Given the description of an element on the screen output the (x, y) to click on. 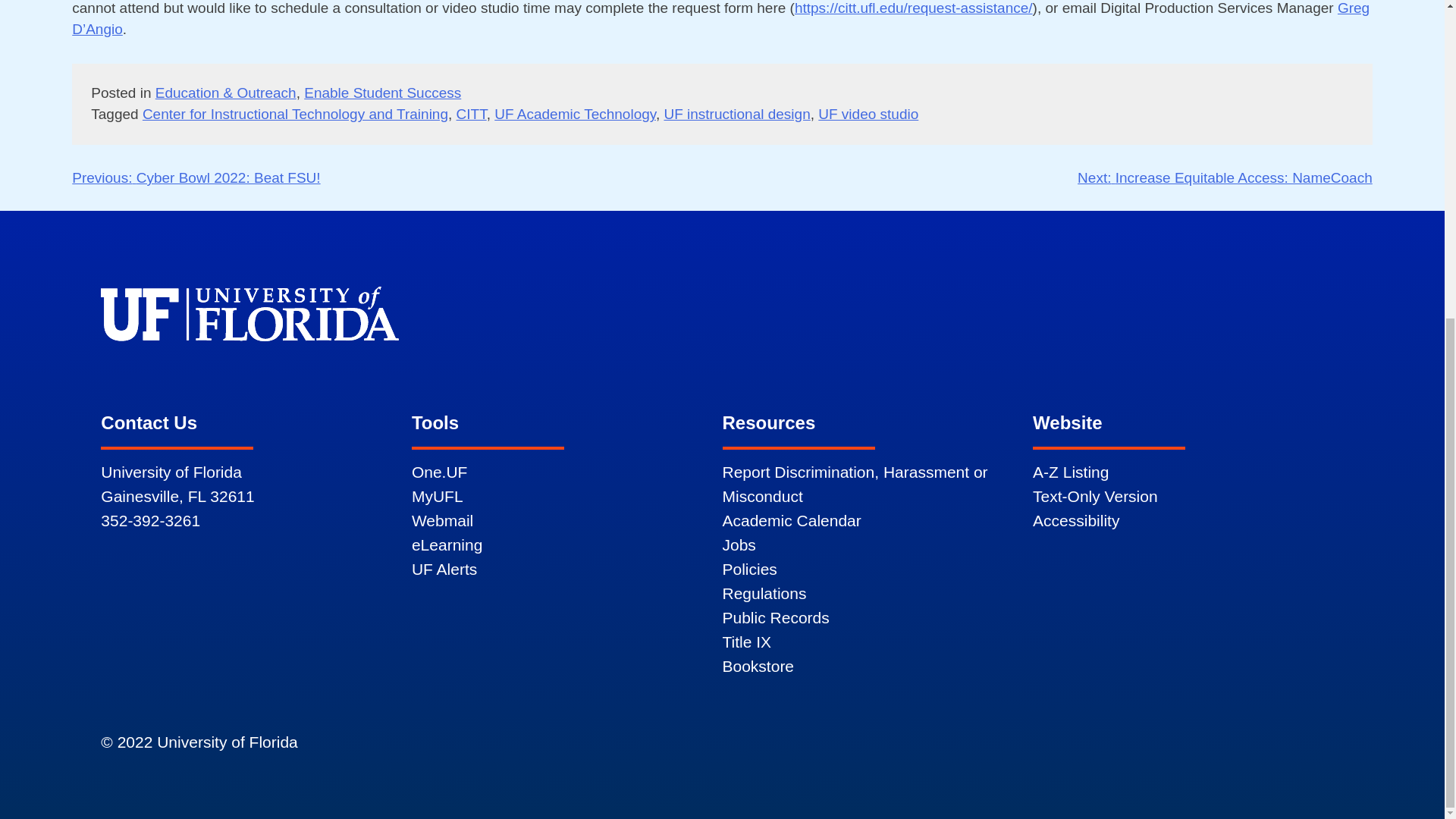
Policies (749, 569)
UF instructional design (736, 114)
CITT (471, 114)
UF Alerts (444, 569)
Academic Calendar (791, 520)
Center for Instructional Technology and Training (295, 114)
Previous: Cyber Bowl 2022: Beat FSU! (195, 177)
eLearning (446, 544)
Report Discrimination, Harassment or Misconduct (854, 484)
Title IX (746, 641)
MyUFL (437, 496)
UF video studio (868, 114)
Regulations (764, 592)
352-392-3261 (150, 520)
Webmail (442, 520)
